Given the description of an element on the screen output the (x, y) to click on. 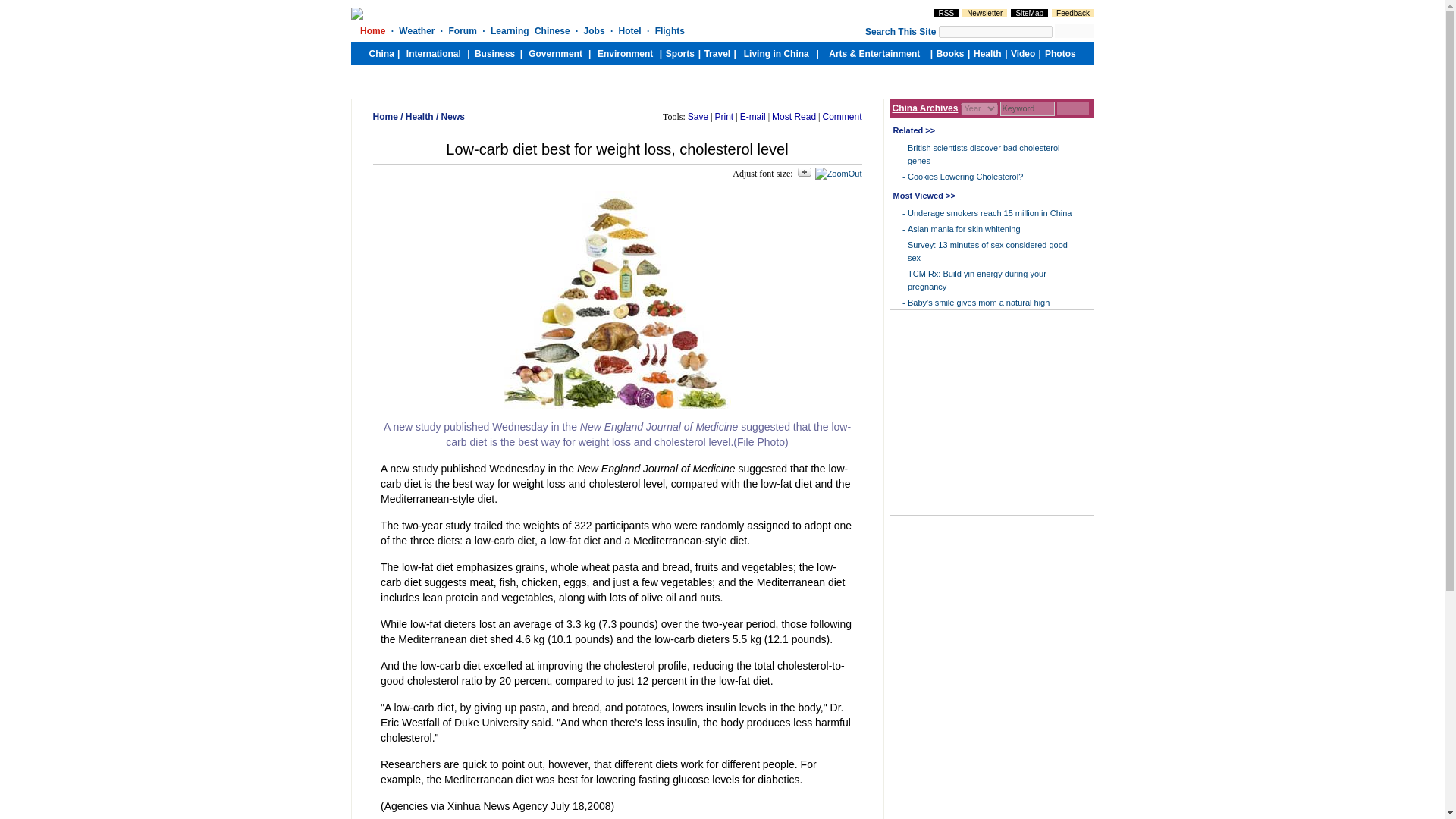
British scientists discover bad cholesterol genes (983, 154)
Cookies Lowering Cholesterol? (965, 175)
Survey: 13 minutes of sex considered good sex (987, 251)
Most Read (793, 116)
Print (723, 116)
Keyword (1026, 108)
Health (419, 116)
E-mail (752, 116)
News (452, 116)
Comment (841, 116)
